Given the description of an element on the screen output the (x, y) to click on. 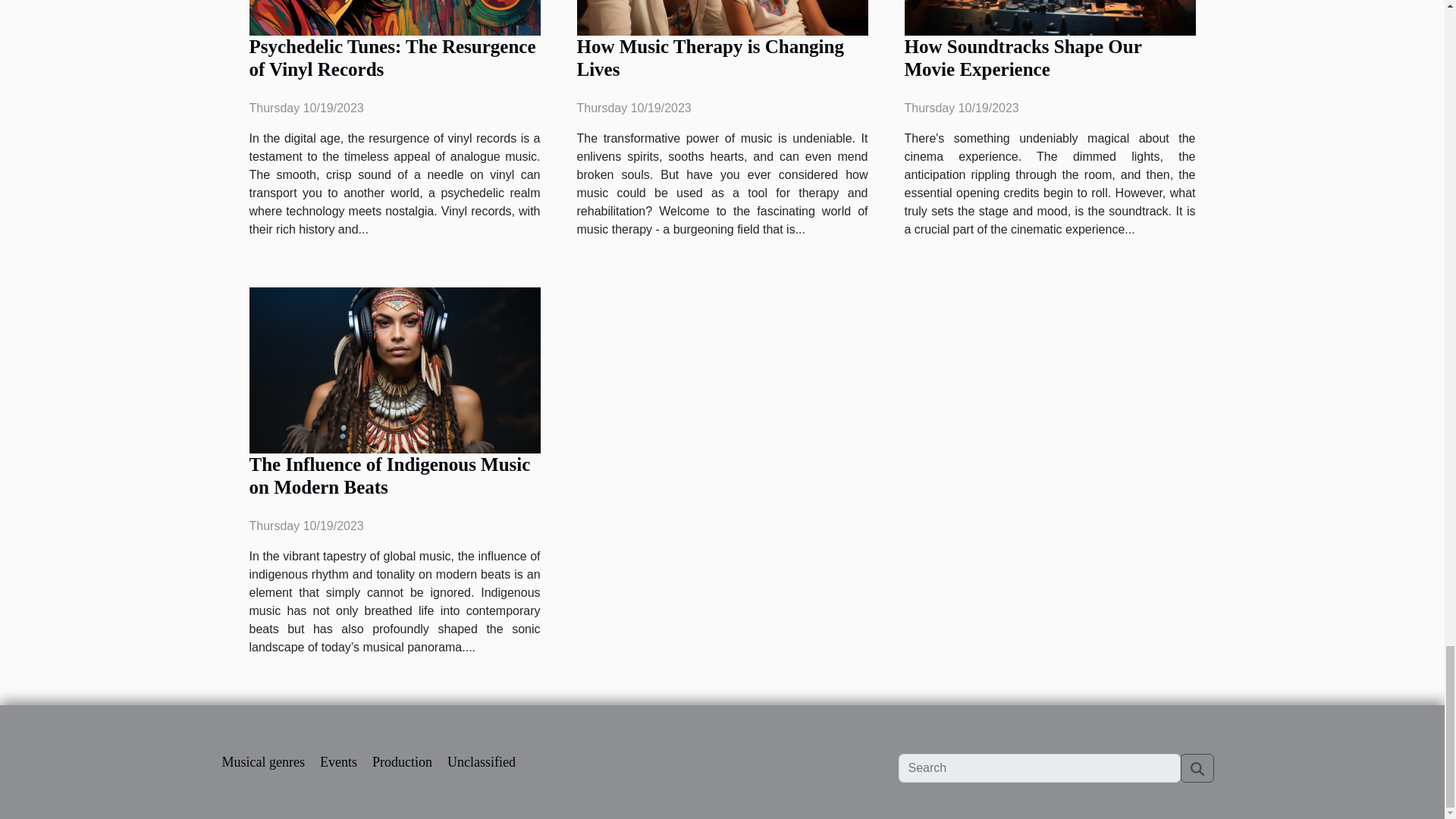
Musical genres (262, 761)
How Soundtracks Shape Our Movie Experience (1022, 57)
Psychedelic Tunes: The Resurgence of Vinyl Records (391, 57)
Musical genres (262, 761)
Psychedelic Tunes: The Resurgence of Vinyl Records (391, 57)
Unclassified (480, 761)
The Influence of Indigenous Music on Modern Beats (388, 475)
Unclassified (480, 761)
Production (402, 761)
How Music Therapy is Changing Lives (709, 57)
